Given the description of an element on the screen output the (x, y) to click on. 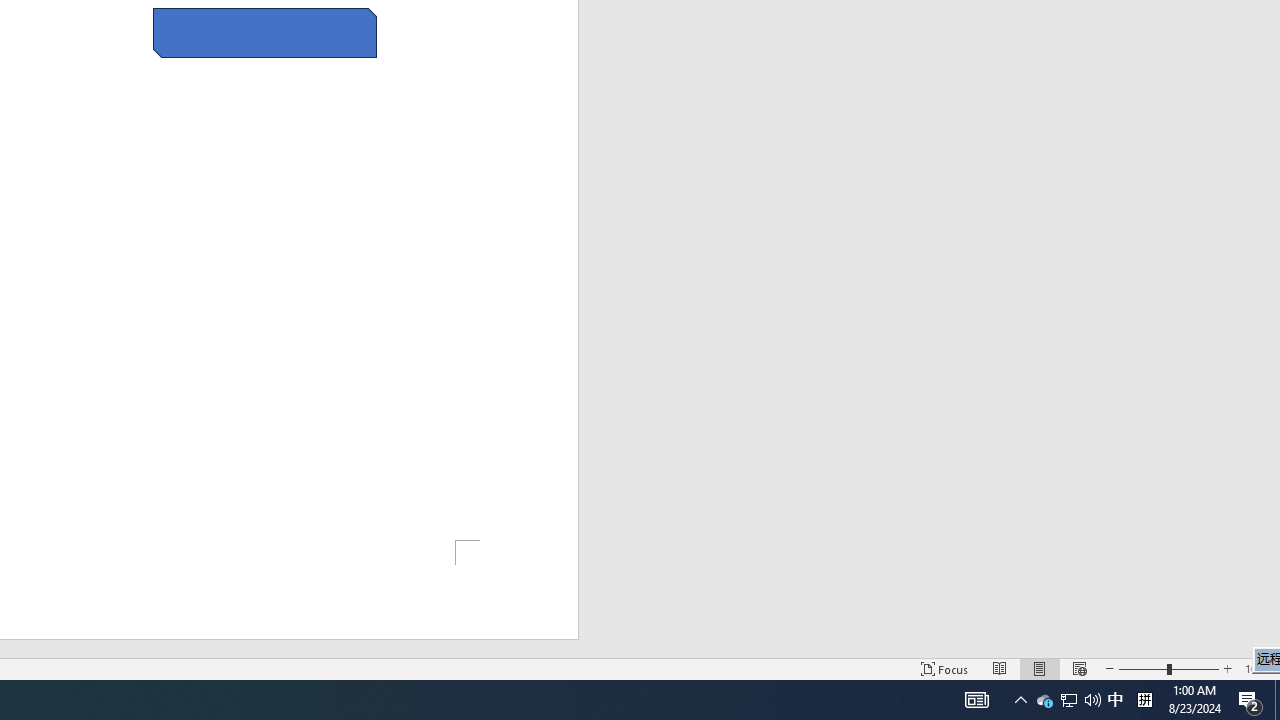
Rectangle: Diagonal Corners Snipped 2 (265, 32)
Zoom 104% (1258, 668)
